Given the description of an element on the screen output the (x, y) to click on. 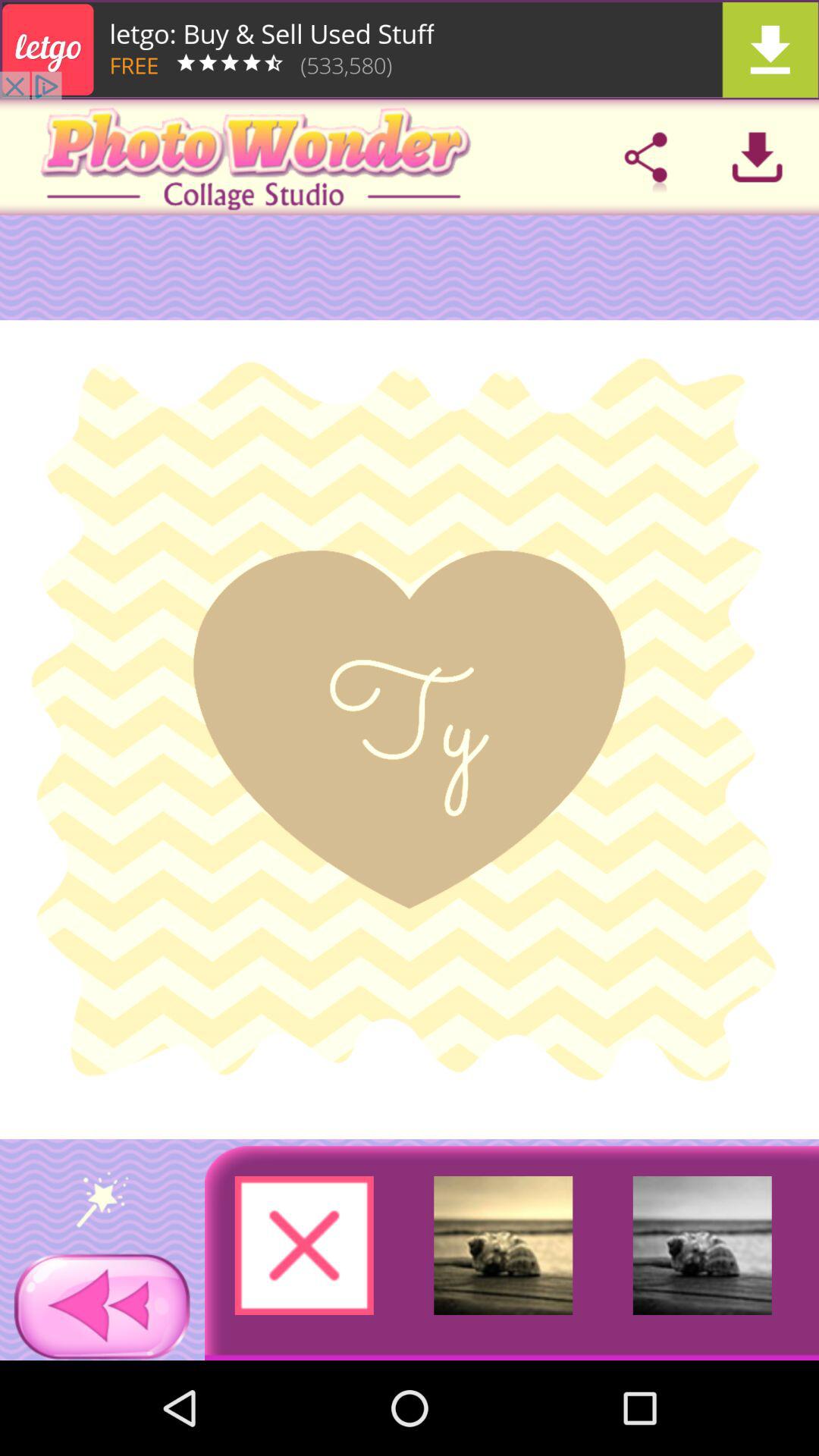
share the article (645, 157)
